Given the description of an element on the screen output the (x, y) to click on. 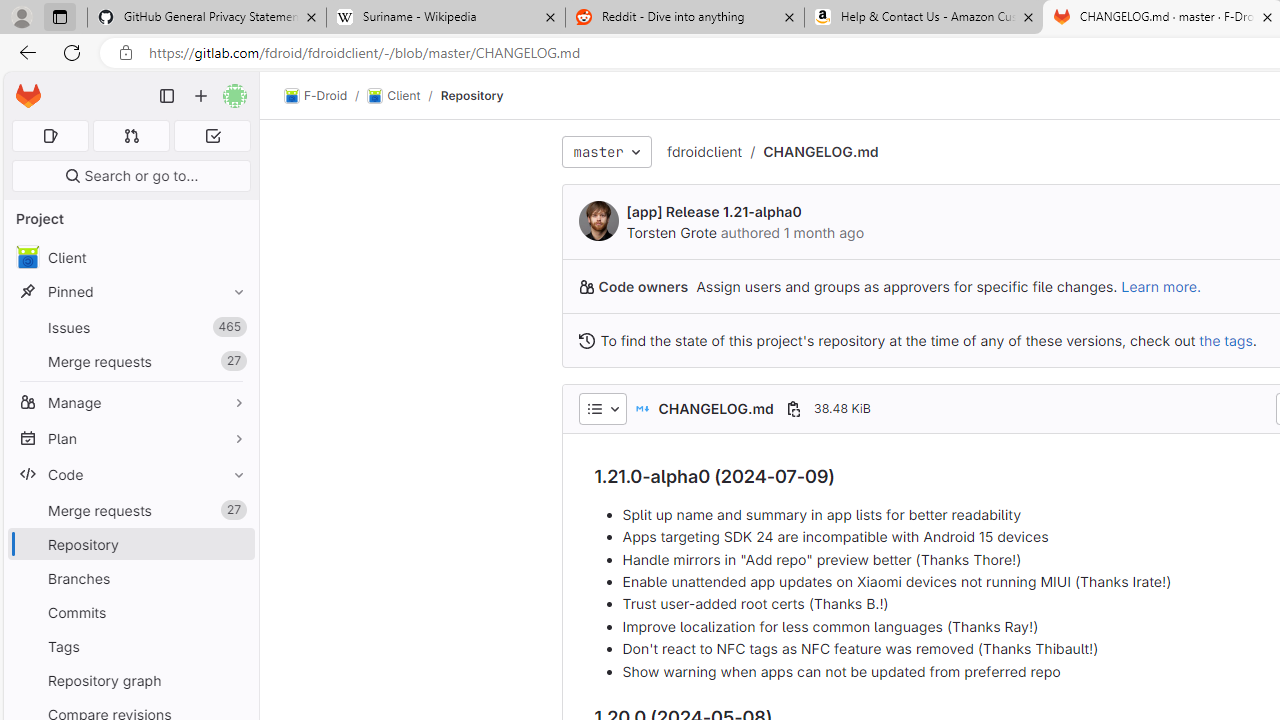
Reddit - Dive into anything (684, 17)
the tags (1226, 340)
[app] Release 1.21-alpha0 (713, 211)
Pin Branches (234, 578)
fdroidclient (703, 151)
Assigned issues 0 (50, 136)
GitHub General Privacy Statement - GitHub Docs (207, 17)
Client (394, 96)
Plan (130, 438)
Copy file path (793, 408)
Torsten Grote (670, 232)
Client/ (404, 96)
Merge requests 27 (130, 510)
Branches (130, 578)
